Given the description of an element on the screen output the (x, y) to click on. 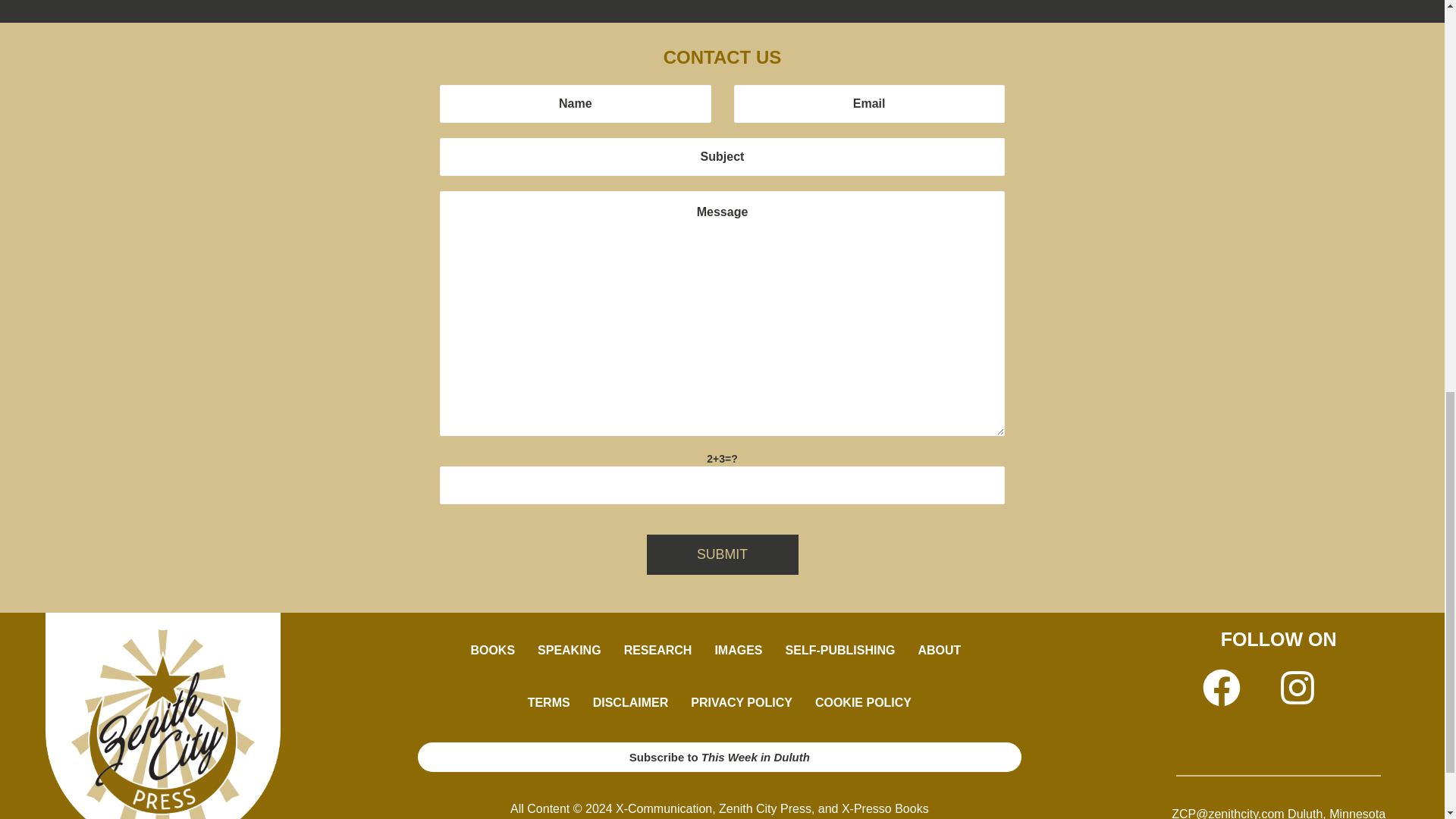
RESEARCH (657, 650)
TERMS (548, 702)
IMAGES (738, 650)
Submit (721, 554)
COOKIE POLICY (863, 702)
SELF-PUBLISHING (840, 650)
BOOKS (491, 650)
DISCLAIMER (629, 702)
SPEAKING (568, 650)
PRIVACY POLICY (741, 702)
